Given the description of an element on the screen output the (x, y) to click on. 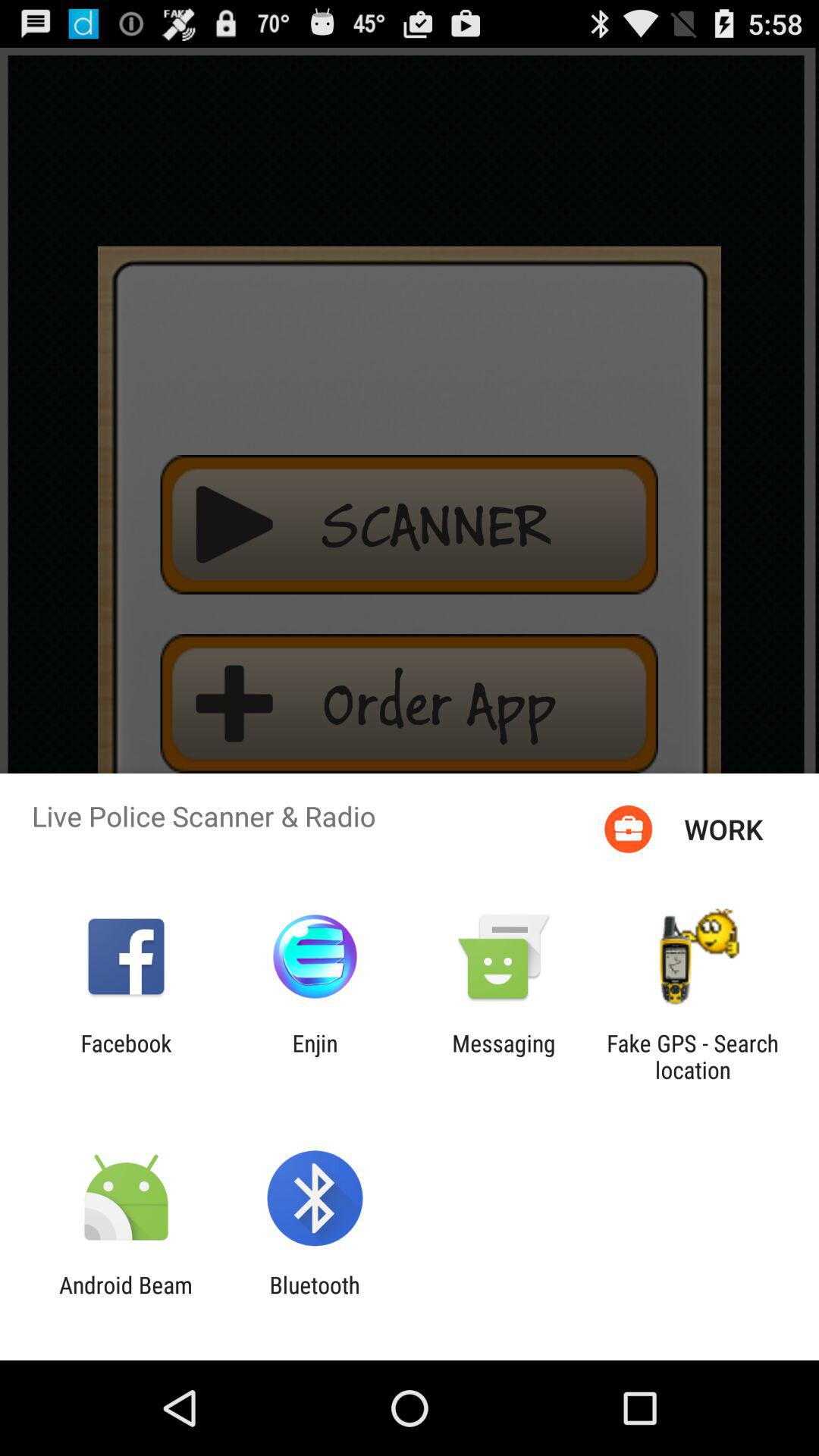
swipe to fake gps search app (692, 1056)
